Given the description of an element on the screen output the (x, y) to click on. 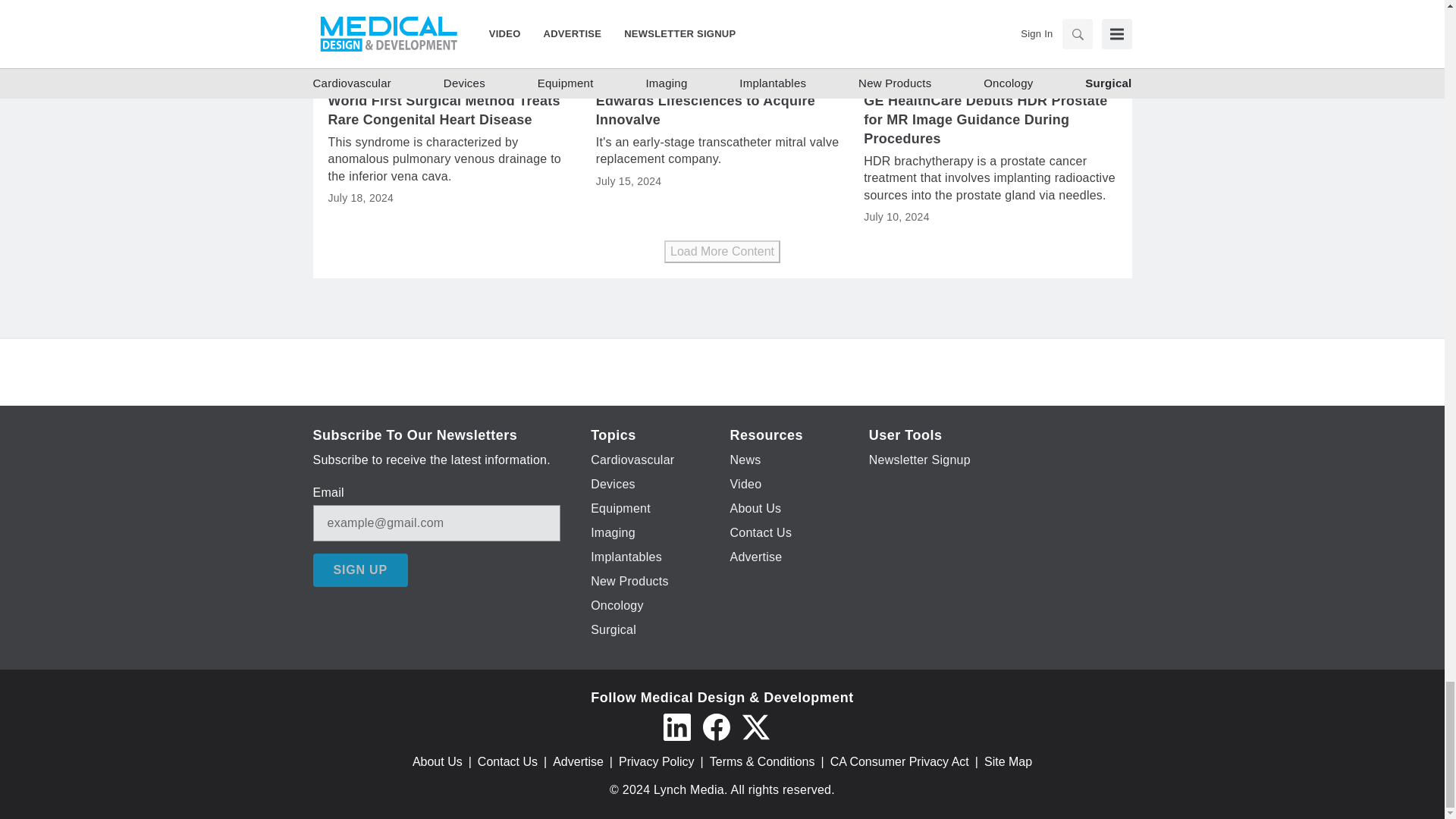
Twitter X icon (754, 727)
Facebook icon (715, 727)
LinkedIn icon (676, 727)
